Given the description of an element on the screen output the (x, y) to click on. 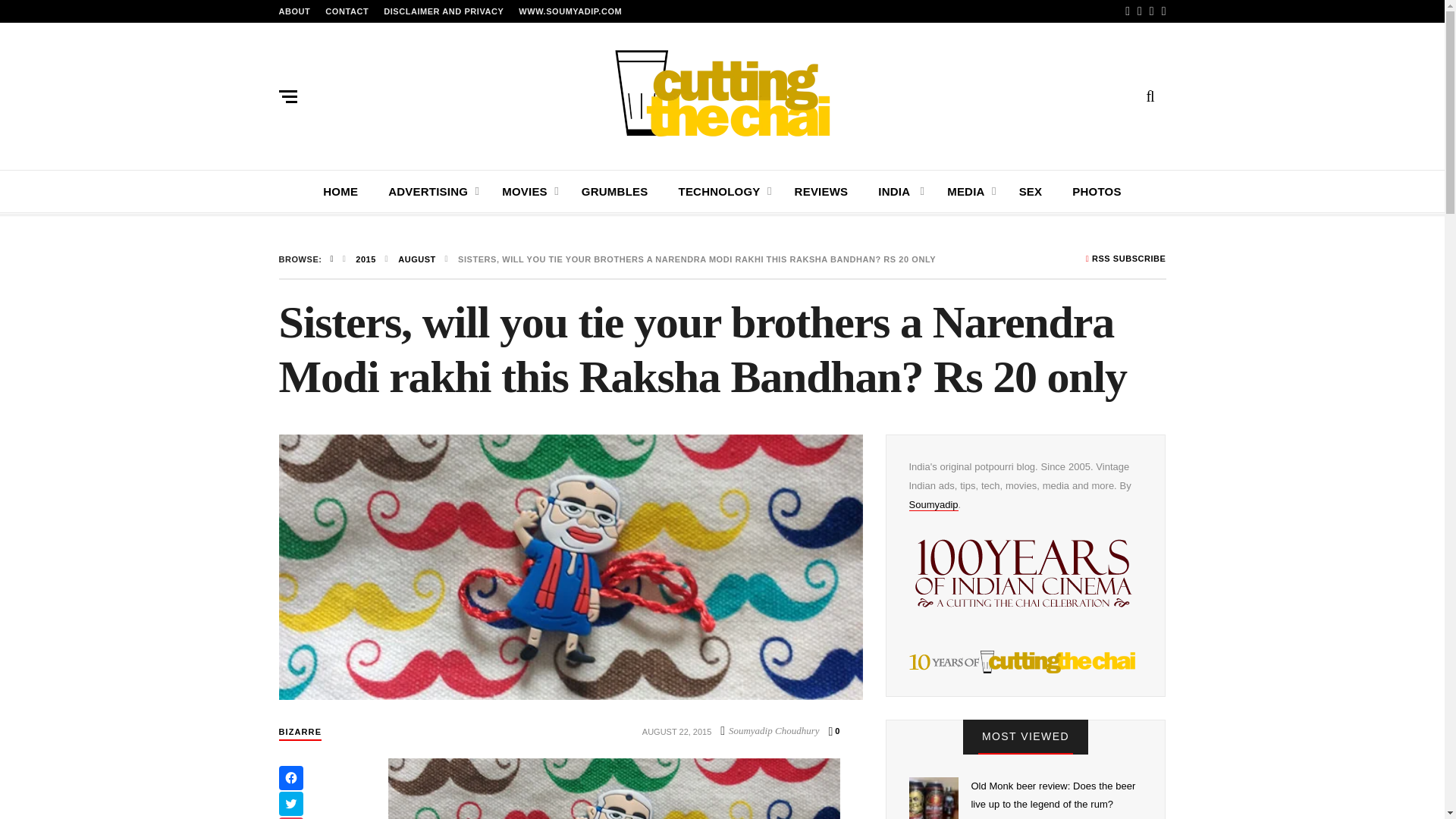
India (900, 191)
Technology (724, 191)
Click to share on Twitter (290, 803)
Cutting the Chai (722, 92)
Click to share on Facebook (290, 777)
Click to share on Pocket (290, 818)
